Given the description of an element on the screen output the (x, y) to click on. 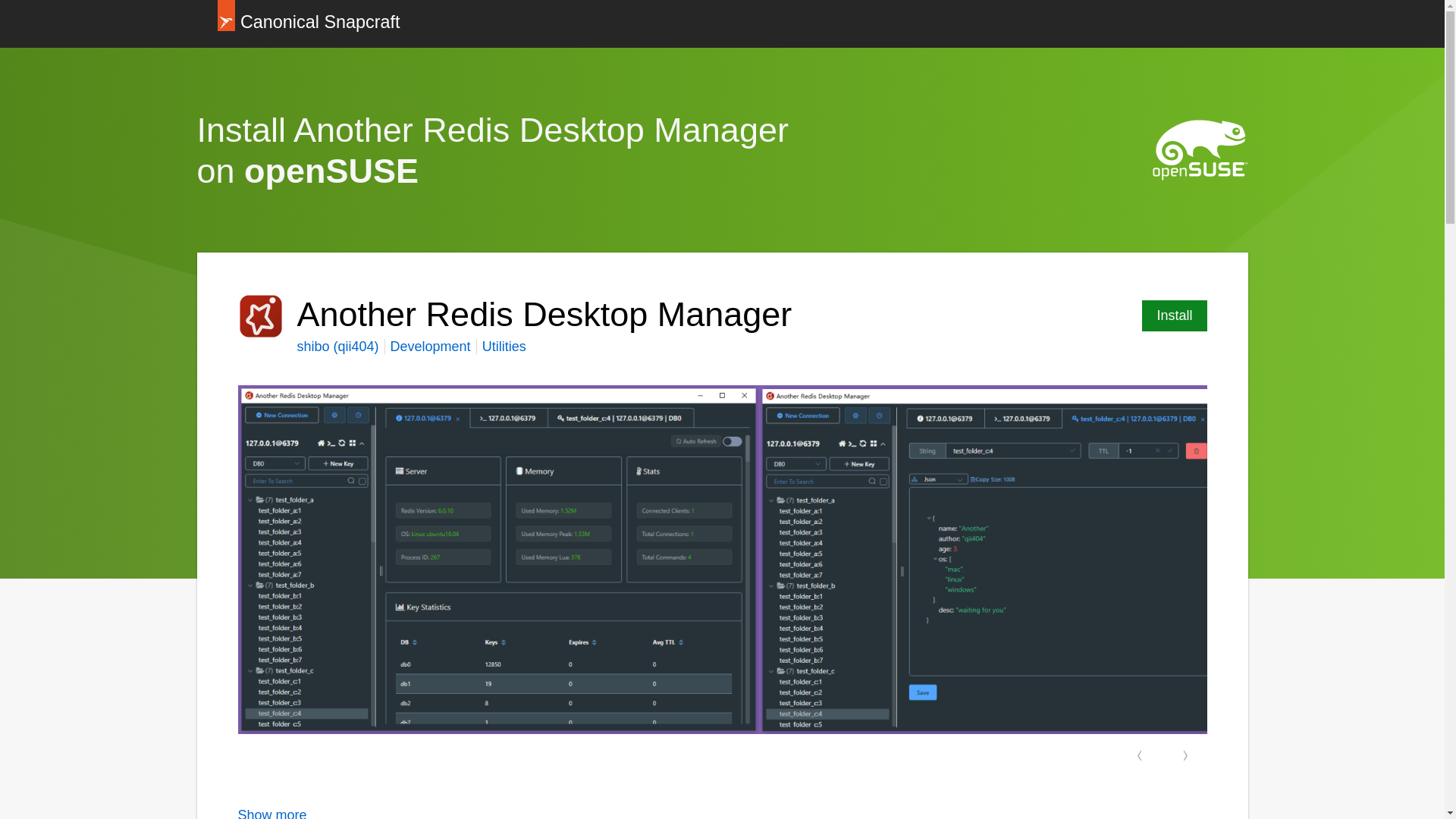
Show more (272, 813)
Utilities (503, 346)
Development (430, 346)
Canonical Snapcraft (307, 23)
Install (1174, 315)
Previous (1139, 754)
Next (1185, 754)
